Given the description of an element on the screen output the (x, y) to click on. 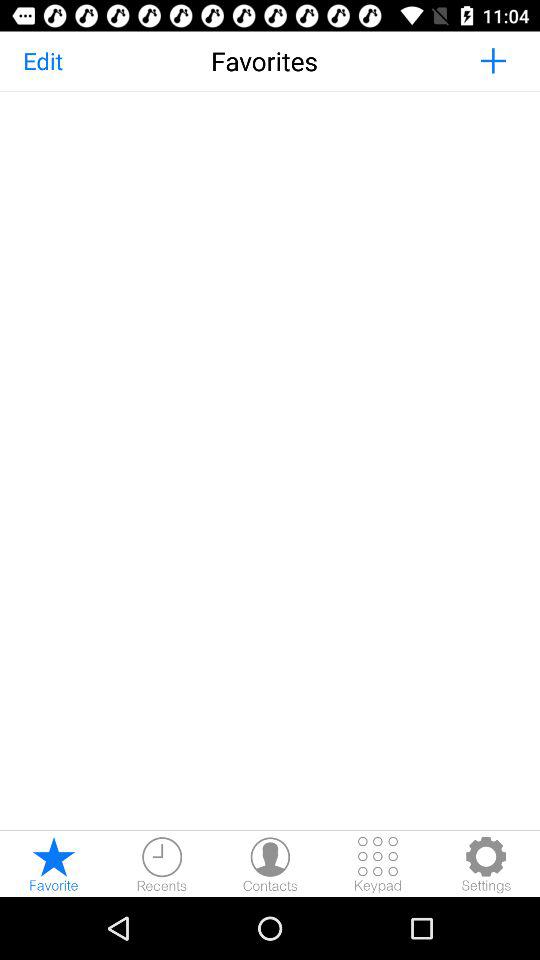
tap the item at the center (270, 460)
